Given the description of an element on the screen output the (x, y) to click on. 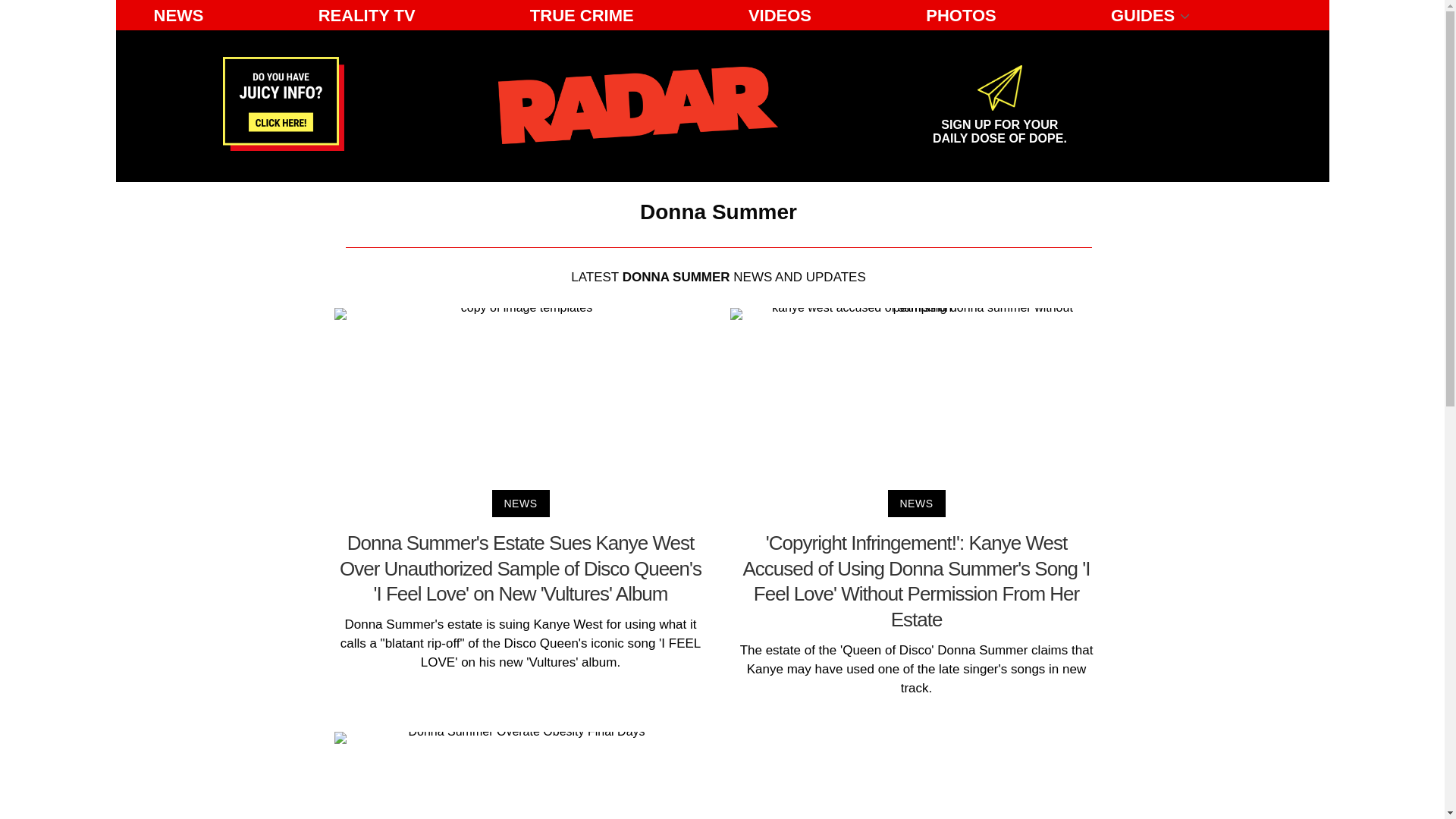
Radar Online (637, 105)
NEWS (178, 15)
PHOTOS (961, 15)
Email us your tip (282, 146)
TRUE CRIME (582, 15)
Sign up for your daily dose of dope. (999, 124)
VIDEOS (779, 15)
REALITY TV (999, 124)
